Given the description of an element on the screen output the (x, y) to click on. 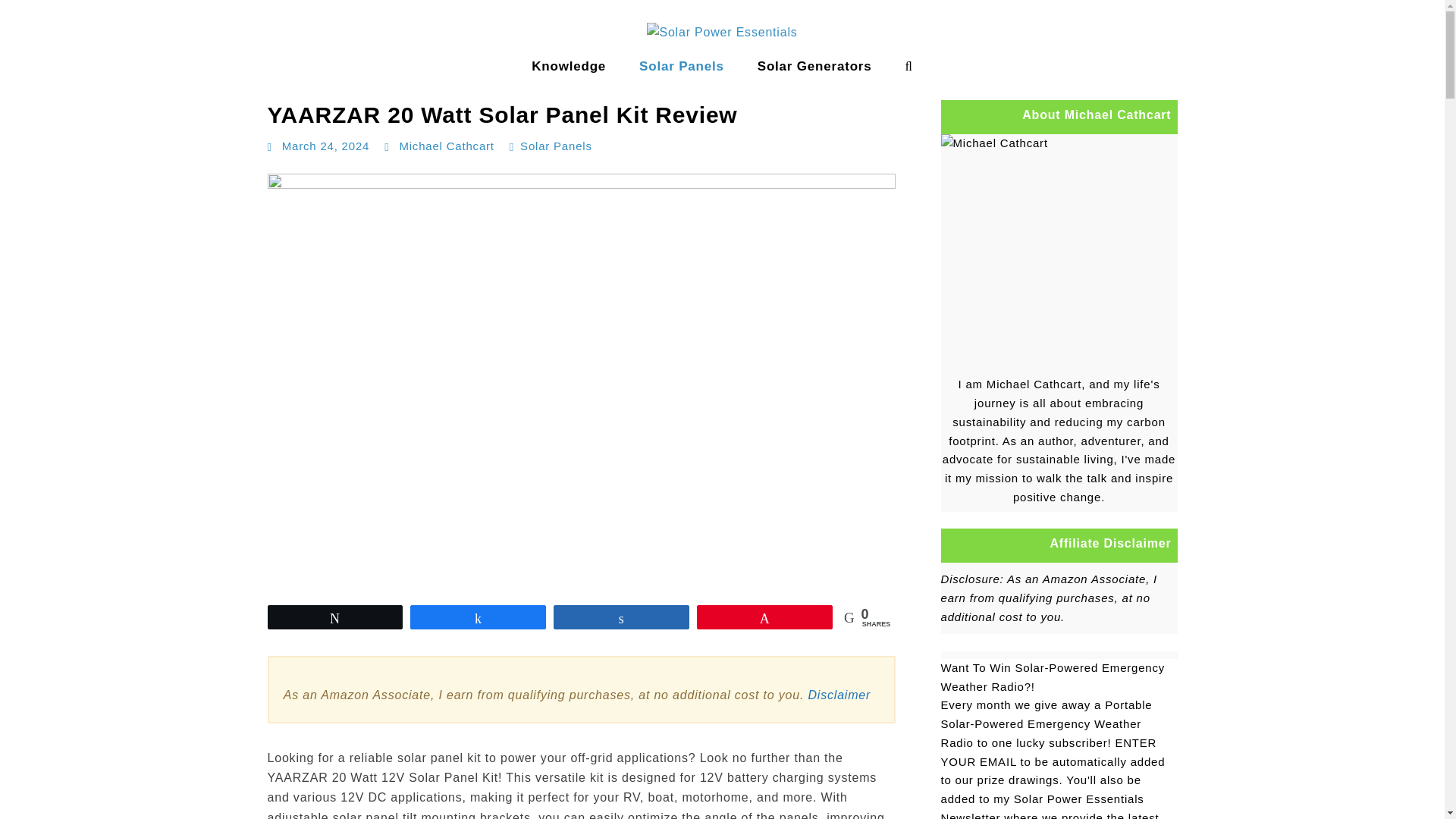
Solar Panels (682, 66)
Solar Panels (555, 145)
Knowledge (569, 66)
Solar Generators (814, 66)
Disclaimer (839, 694)
Michael Cathcart (445, 145)
Solar Power Essentials (90, 81)
